Given the description of an element on the screen output the (x, y) to click on. 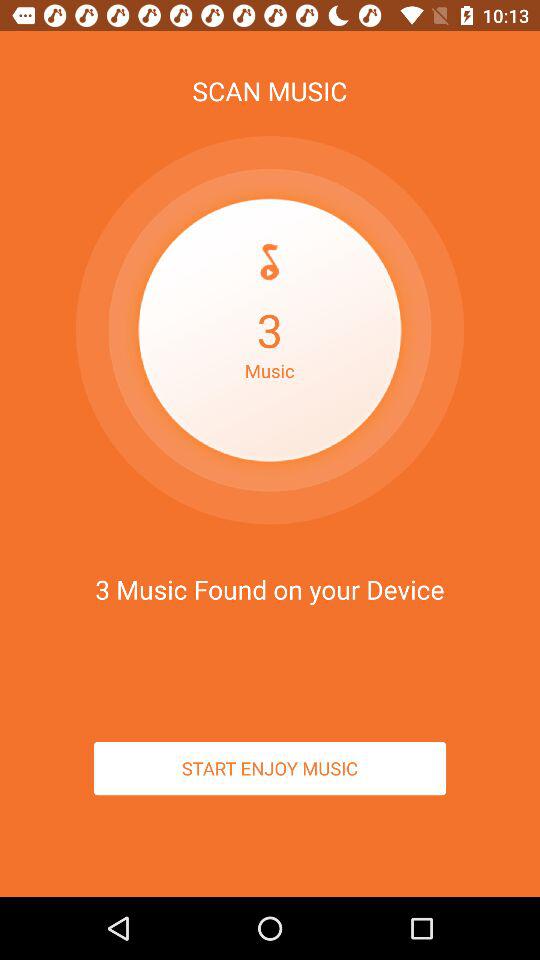
move to the text below music icon (270, 368)
